Given the description of an element on the screen output the (x, y) to click on. 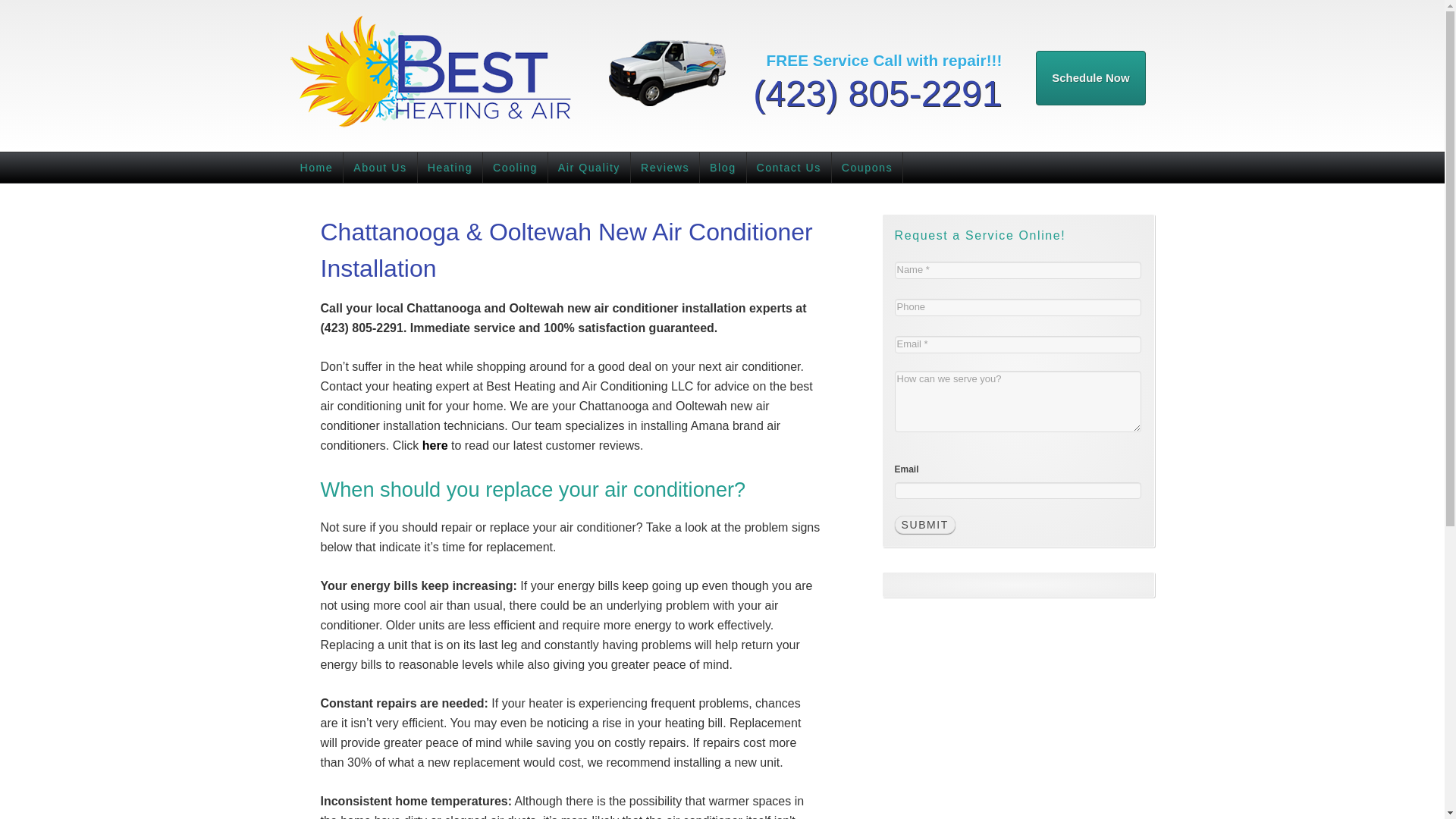
Submit (925, 524)
Best Heating and Air (425, 75)
About Us (379, 167)
Reviews (665, 167)
Heating (450, 167)
Schedule Now (1090, 77)
Air Quality (589, 167)
Submit (925, 524)
Coupons (866, 167)
Contact Us (788, 167)
Cooling (515, 167)
Home (316, 167)
Blog (722, 167)
here (435, 445)
